Given the description of an element on the screen output the (x, y) to click on. 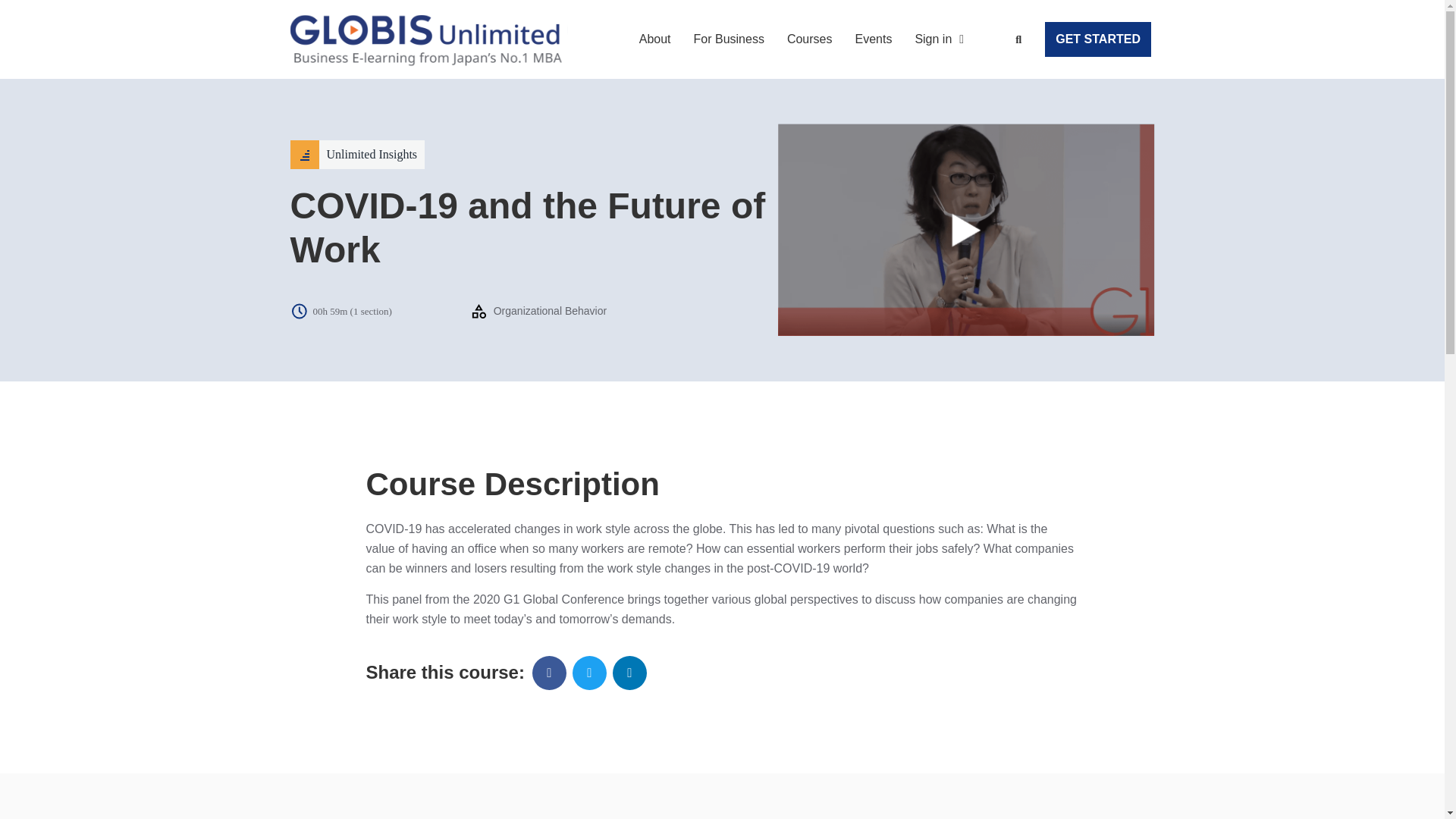
GET STARTED (1098, 39)
For Business (729, 38)
Courses (809, 38)
Sign in (938, 38)
Events (872, 38)
